Given the description of an element on the screen output the (x, y) to click on. 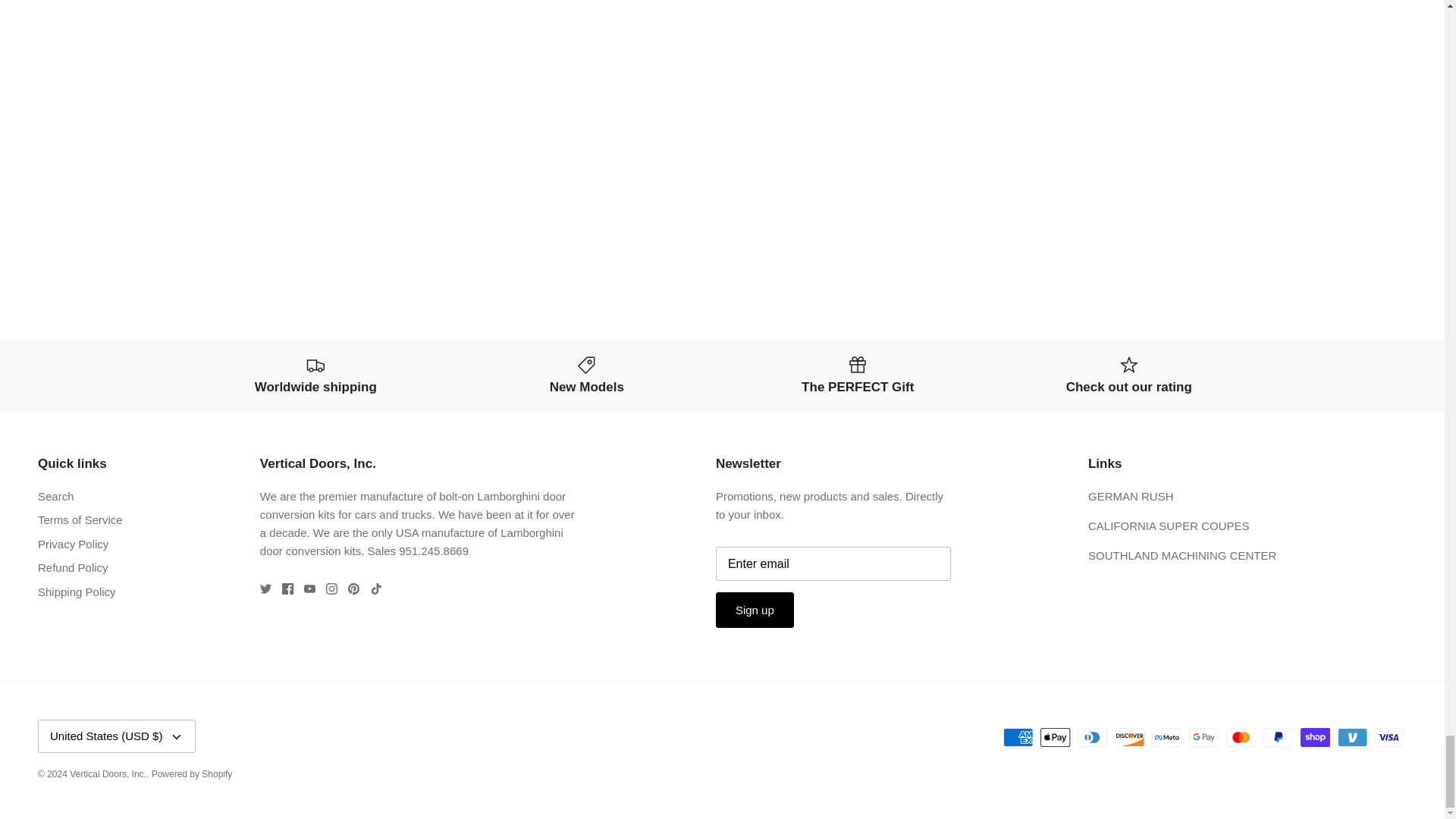
Instagram (331, 588)
Facebook (288, 588)
American Express (1018, 737)
Youtube (309, 588)
Pinterest (353, 588)
Twitter (265, 588)
